Given the description of an element on the screen output the (x, y) to click on. 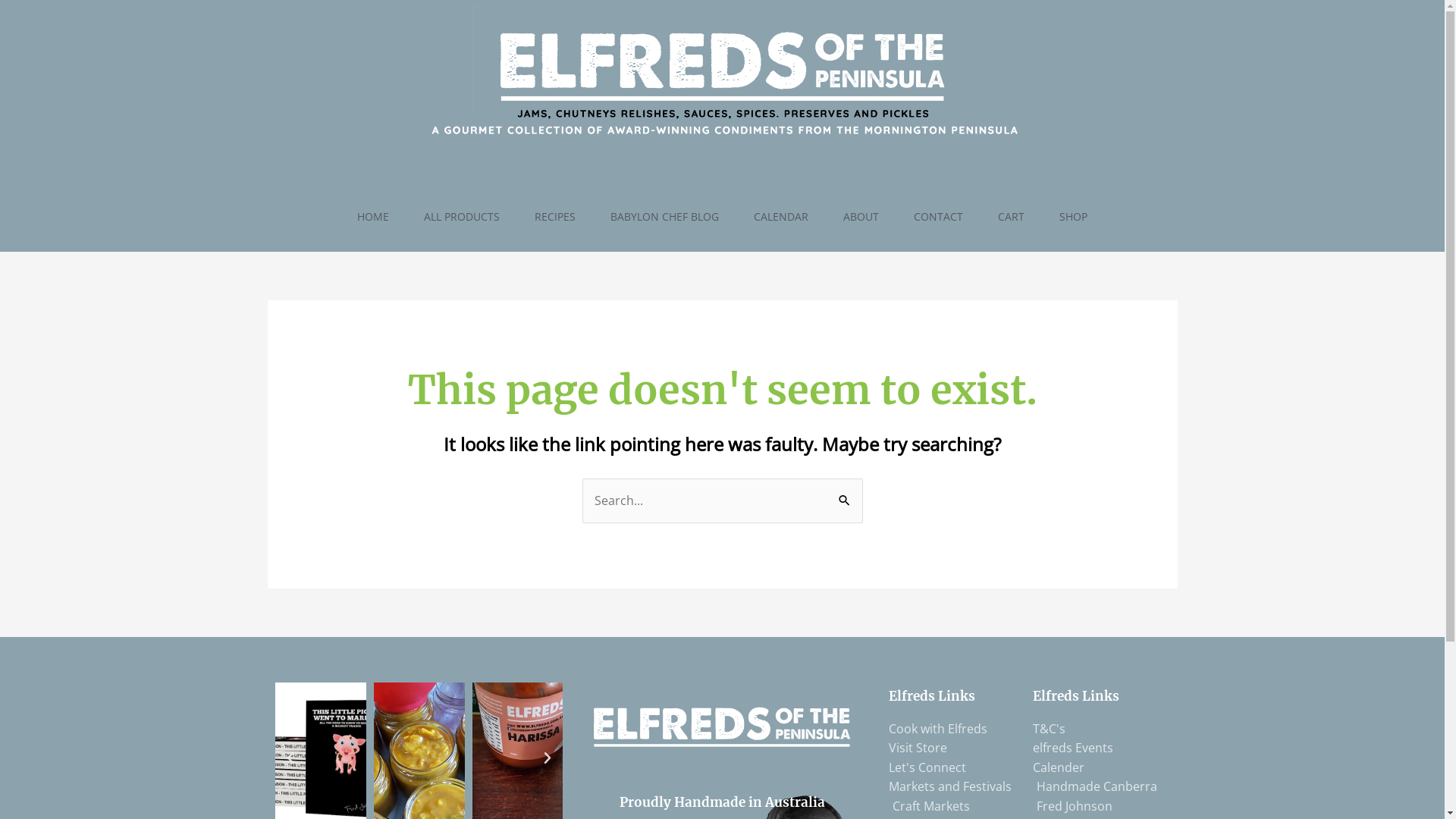
CALENDAR Element type: text (780, 216)
HOME Element type: text (373, 216)
SHOP Element type: text (1073, 216)
RECIPES Element type: text (554, 216)
T&C's Element type: text (1048, 729)
Cook with Elfreds Element type: text (937, 729)
Markets and Festivals Element type: text (949, 787)
elfreds Events Calender Element type: text (1096, 757)
CONTACT Element type: text (938, 216)
Visit Store Element type: text (917, 748)
BABYLON CHEF BLOG Element type: text (664, 216)
Fred Johnson Element type: text (1072, 806)
ABOUT Element type: text (861, 216)
Let's Connect Element type: text (927, 768)
ALL PRODUCTS Element type: text (461, 216)
Handmade Canberra Element type: text (1094, 787)
CART Element type: text (1010, 216)
Search Element type: text (845, 493)
